Given the description of an element on the screen output the (x, y) to click on. 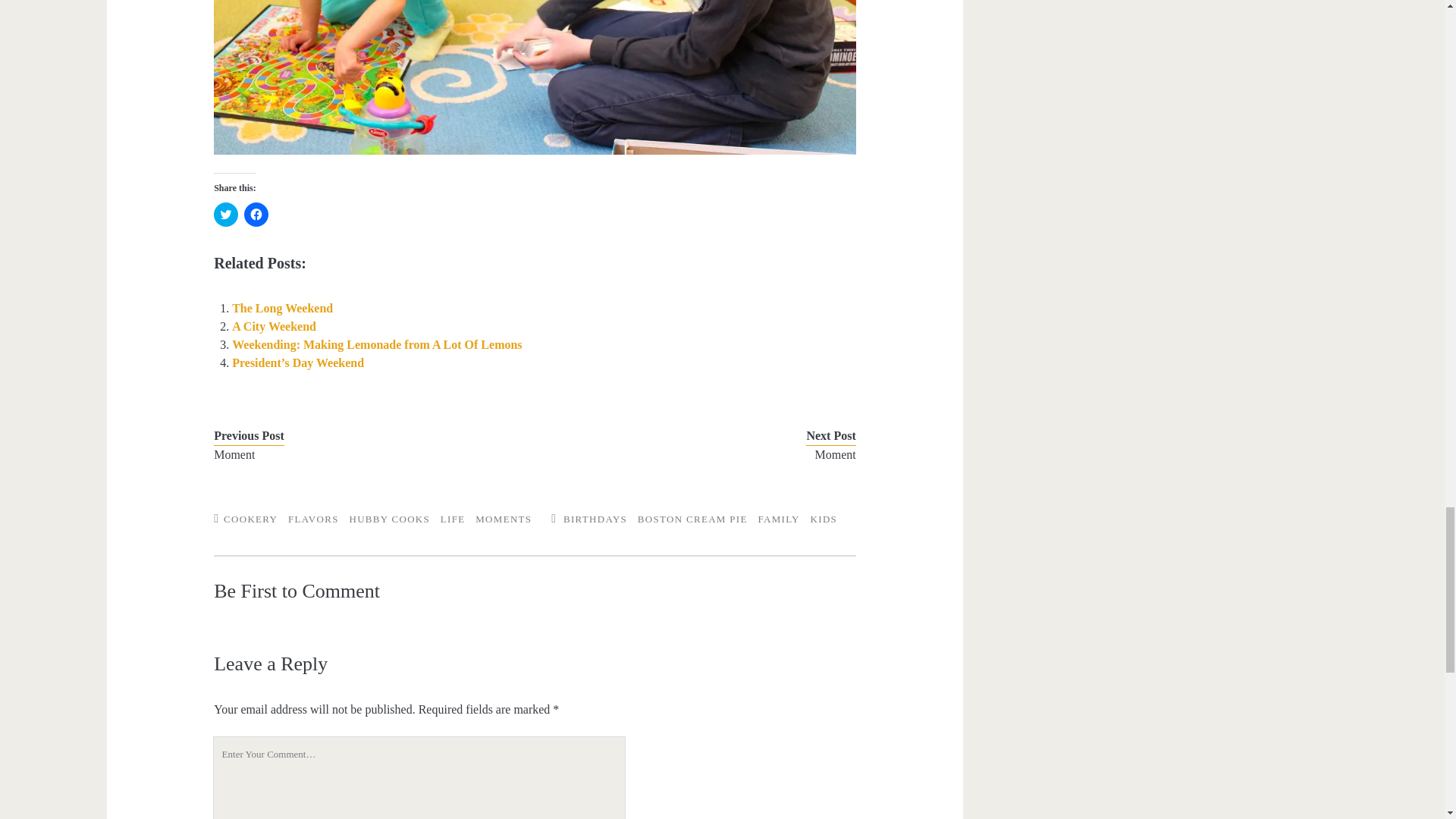
Weekending: Making Lemonade from A Lot Of Lemons (376, 344)
A City Weekend (273, 326)
The Long Weekend (282, 308)
Click to share on Facebook (255, 214)
Click to share on Twitter (226, 214)
